Given the description of an element on the screen output the (x, y) to click on. 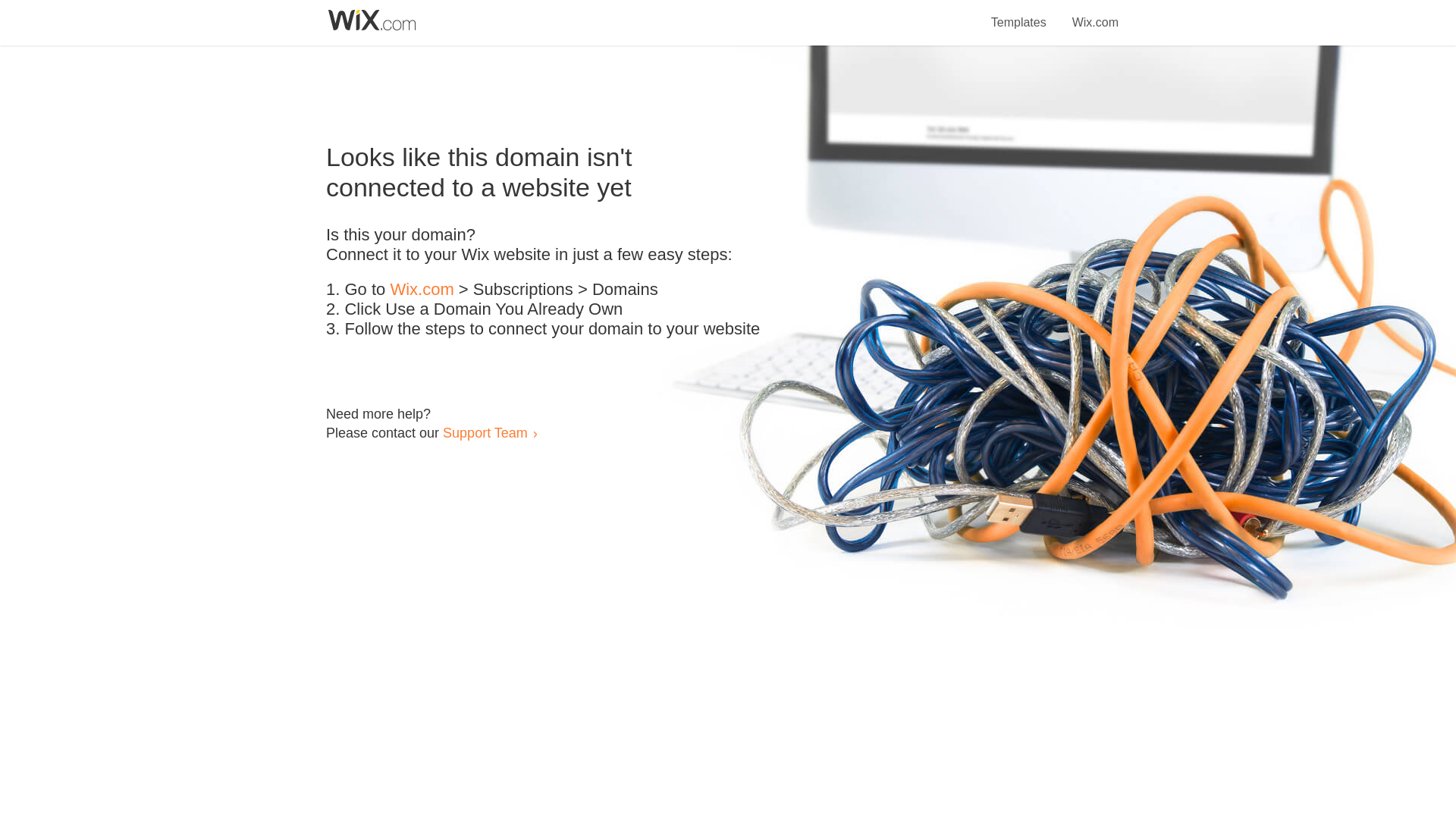
Wix.com (421, 289)
Wix.com (1095, 14)
Support Team (484, 432)
Templates (1018, 14)
